Given the description of an element on the screen output the (x, y) to click on. 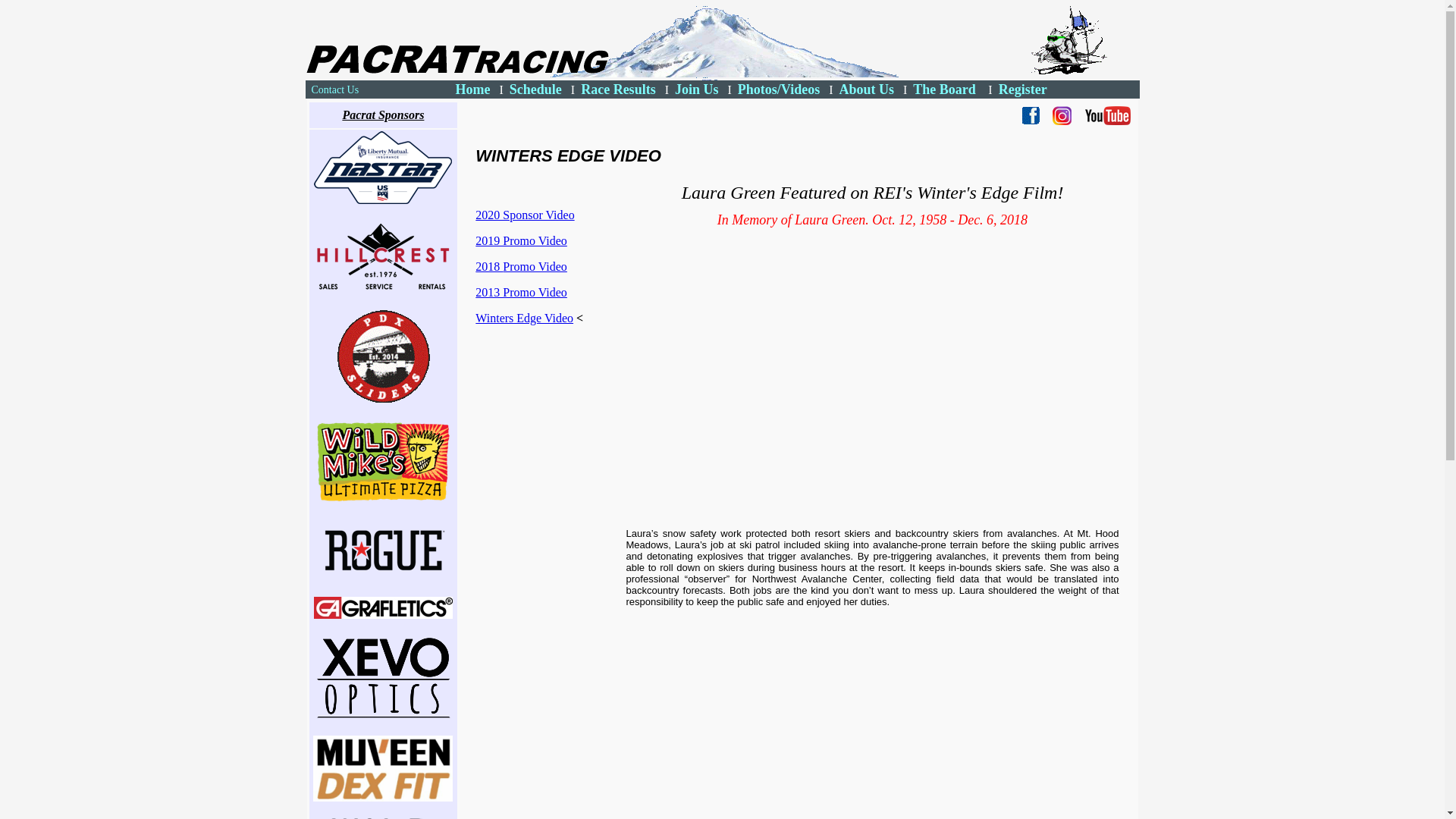
About Us (865, 89)
Race Results (617, 89)
Join Us (697, 89)
2018 (489, 266)
2019 Promo Video (521, 240)
Register (1022, 89)
Winters Edge Video (524, 318)
Promo Video (534, 266)
Schedule (535, 89)
Contact Us (334, 89)
